Given the description of an element on the screen output the (x, y) to click on. 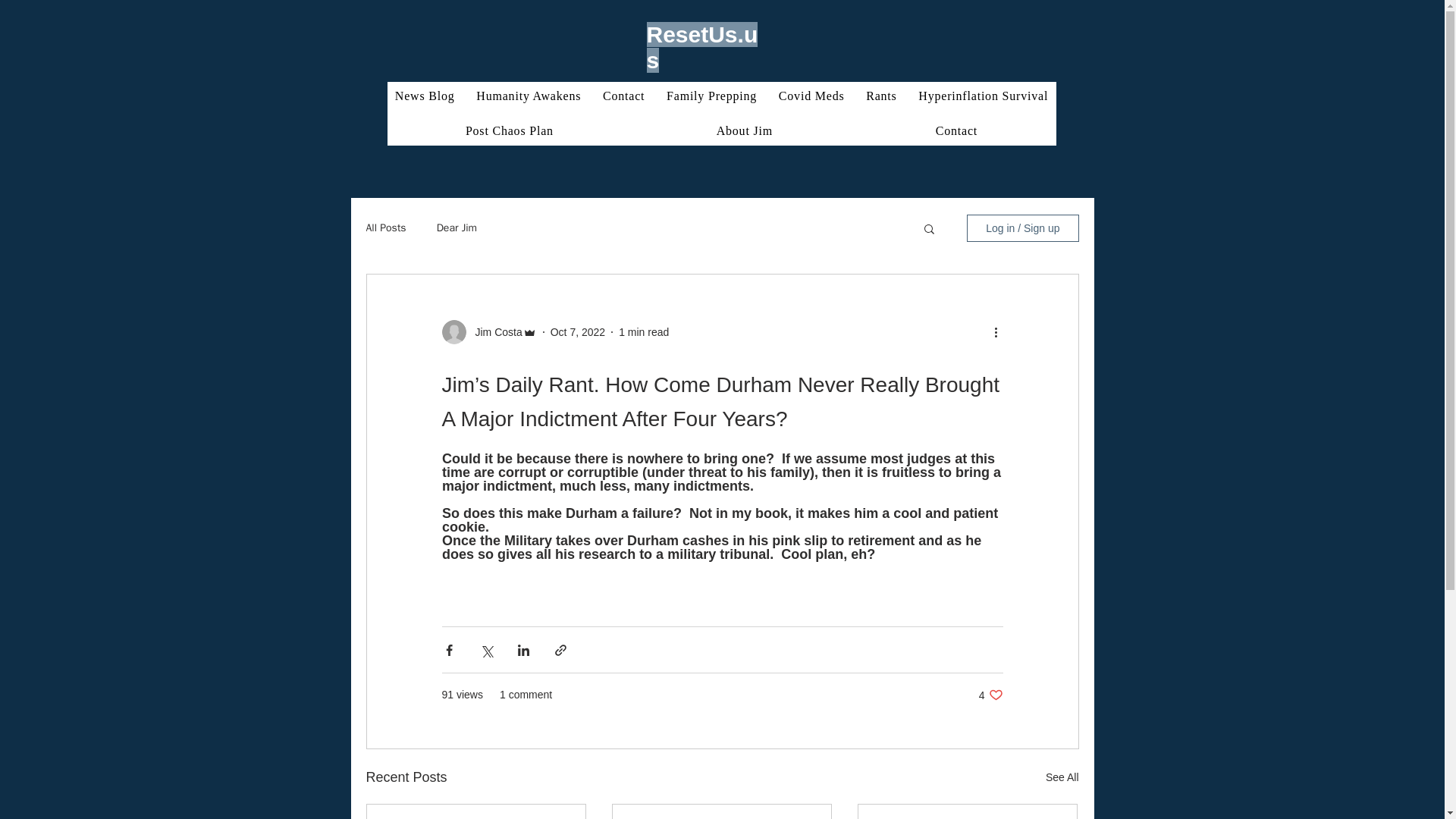
Contact (623, 95)
News Blog (424, 95)
Post Chaos Plan (509, 131)
About Jim (743, 131)
Rants (881, 95)
Oct 7, 2022 (577, 331)
Humanity Awakens (528, 95)
Dear Jim (456, 228)
1 min read (643, 331)
Contact (956, 131)
